Given the description of an element on the screen output the (x, y) to click on. 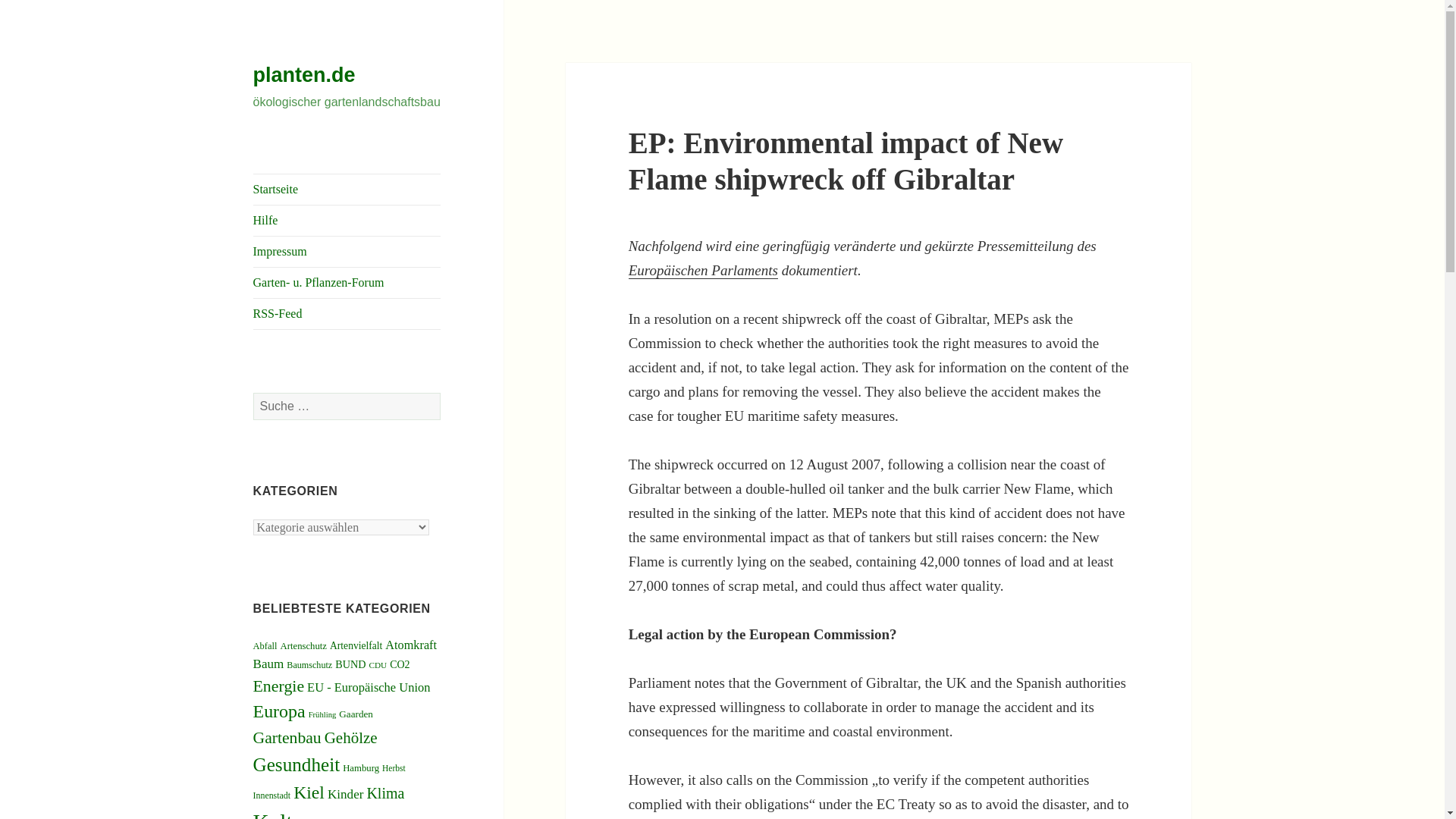
Kinder (344, 794)
BUND (349, 664)
planten.de (304, 74)
Gesundheit (296, 764)
Startseite (347, 189)
Garten- u. Pflanzen-Forum (347, 282)
Kultur (282, 814)
Impressum (347, 251)
Baum (268, 663)
